Given the description of an element on the screen output the (x, y) to click on. 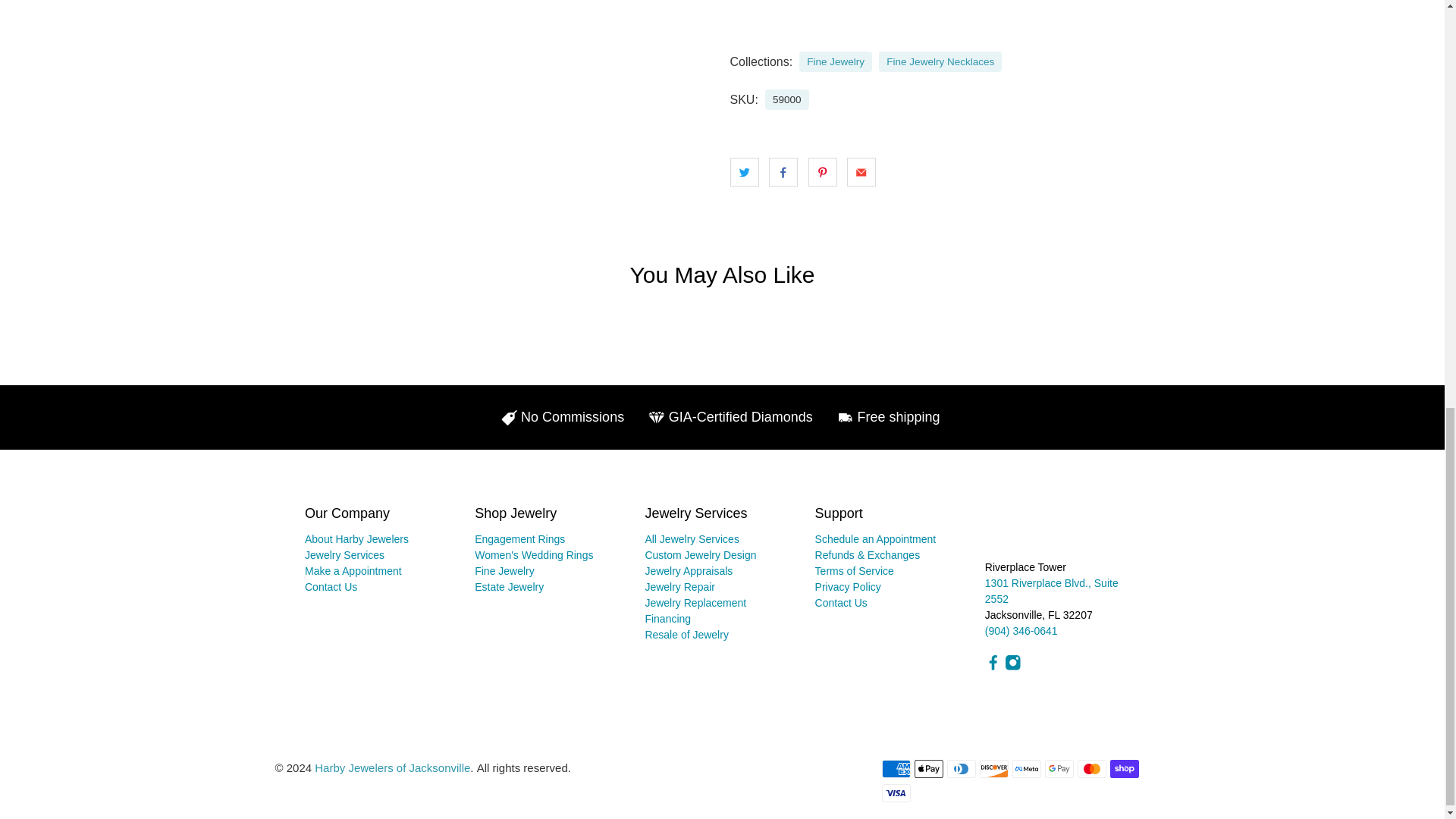
Meta Pay (1026, 769)
Email this to a friend (861, 172)
Apple Pay (928, 769)
Harby Jewelers of Jacksonville on Instagram (1013, 666)
Fine Jewelry Necklaces (940, 61)
Fine Jewelry (835, 61)
Harby Jewelers of Jacksonville on Facebook (993, 666)
Diners Club (961, 769)
Share this on Twitter (743, 172)
Discover (994, 769)
Share this on Facebook (782, 172)
American Express (895, 769)
Harby Jewelers of Jacksonville (1046, 531)
Share this on Pinterest (822, 172)
Google Pay (1059, 769)
